Given the description of an element on the screen output the (x, y) to click on. 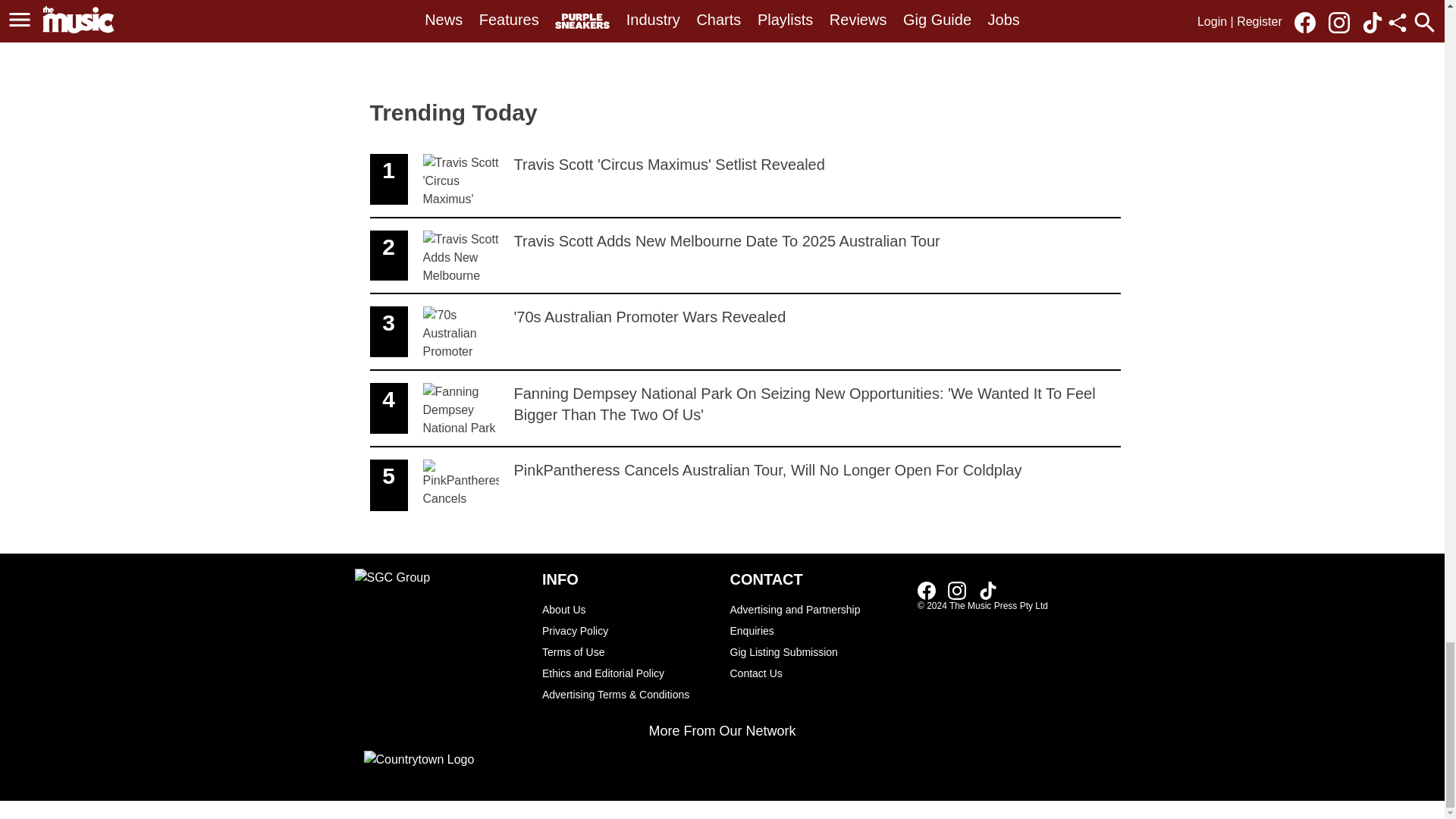
Link to our TikTok (987, 590)
Privacy Policy (627, 630)
Terms of Use (627, 651)
Advertising and Partnership Enquiries (745, 332)
Link to our Facebook (815, 619)
Gig Listing Submission (926, 590)
About Us (815, 651)
Ethics and Editorial Policy (627, 608)
Link to our Instagram (627, 672)
Spotify Embed: Cascades (956, 590)
